Given the description of an element on the screen output the (x, y) to click on. 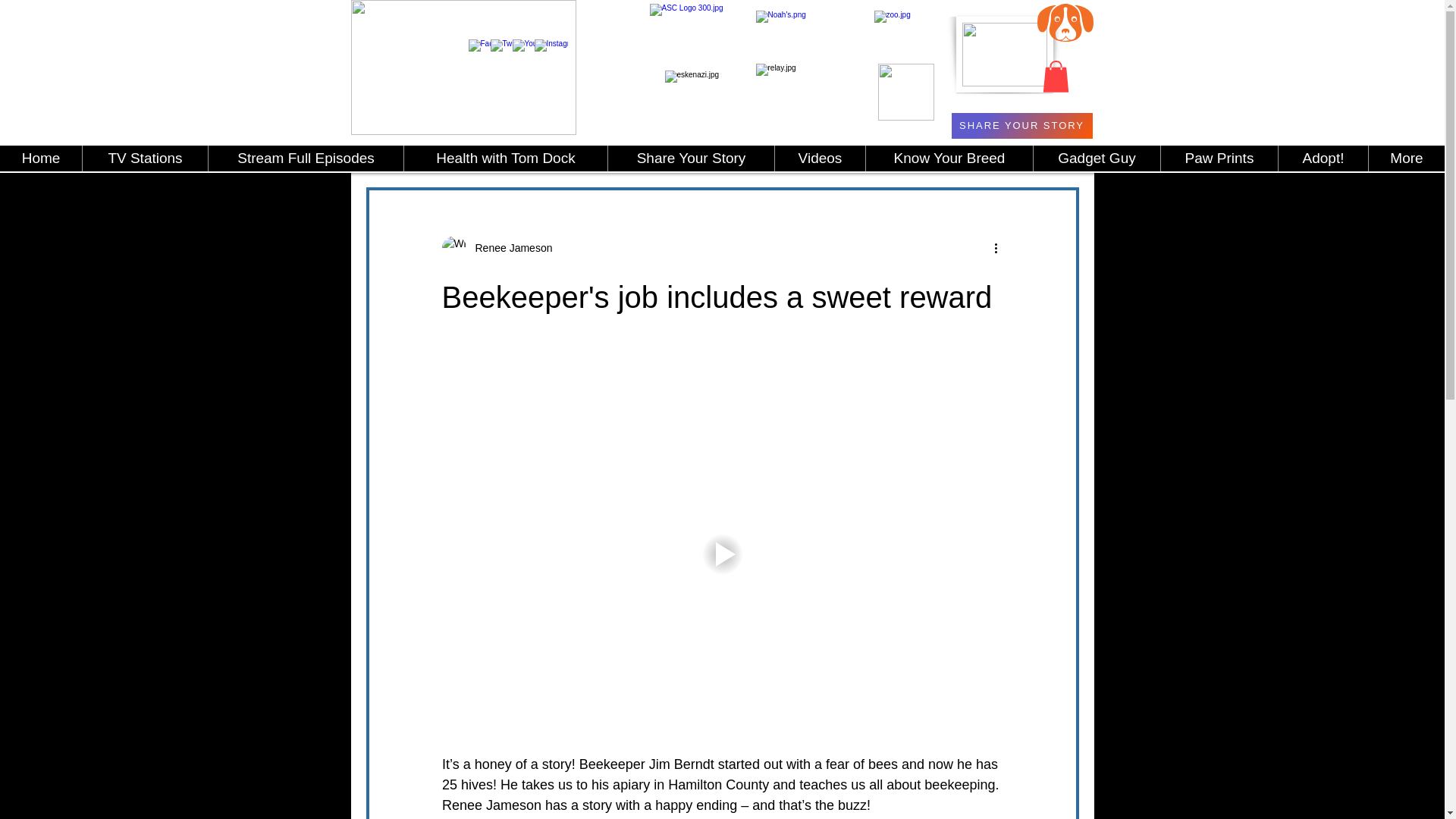
Videos (819, 158)
Health with Tom Dock (505, 158)
Gadget Guy (1096, 158)
Home (40, 158)
Know Your Breed (948, 158)
SHARE YOUR STORY (1021, 125)
Stream Full Episodes (305, 158)
store.jpg (1003, 54)
Adopt! (1323, 158)
Renee Jameson (496, 247)
